Given the description of an element on the screen output the (x, y) to click on. 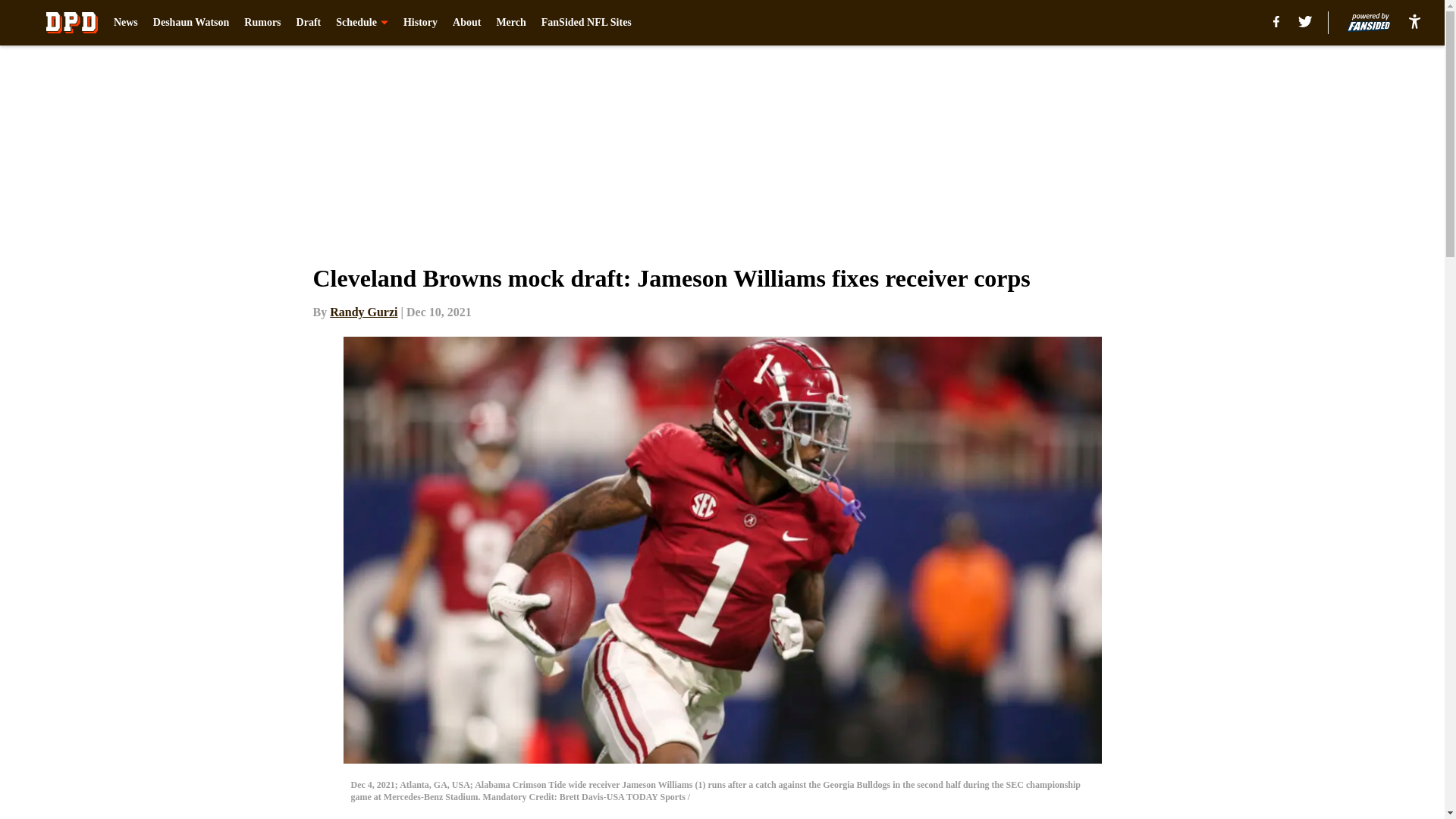
Draft (309, 22)
News (125, 22)
Randy Gurzi (363, 311)
History (420, 22)
Deshaun Watson (191, 22)
About (466, 22)
Merch (510, 22)
FanSided NFL Sites (586, 22)
Rumors (262, 22)
